Given the description of an element on the screen output the (x, y) to click on. 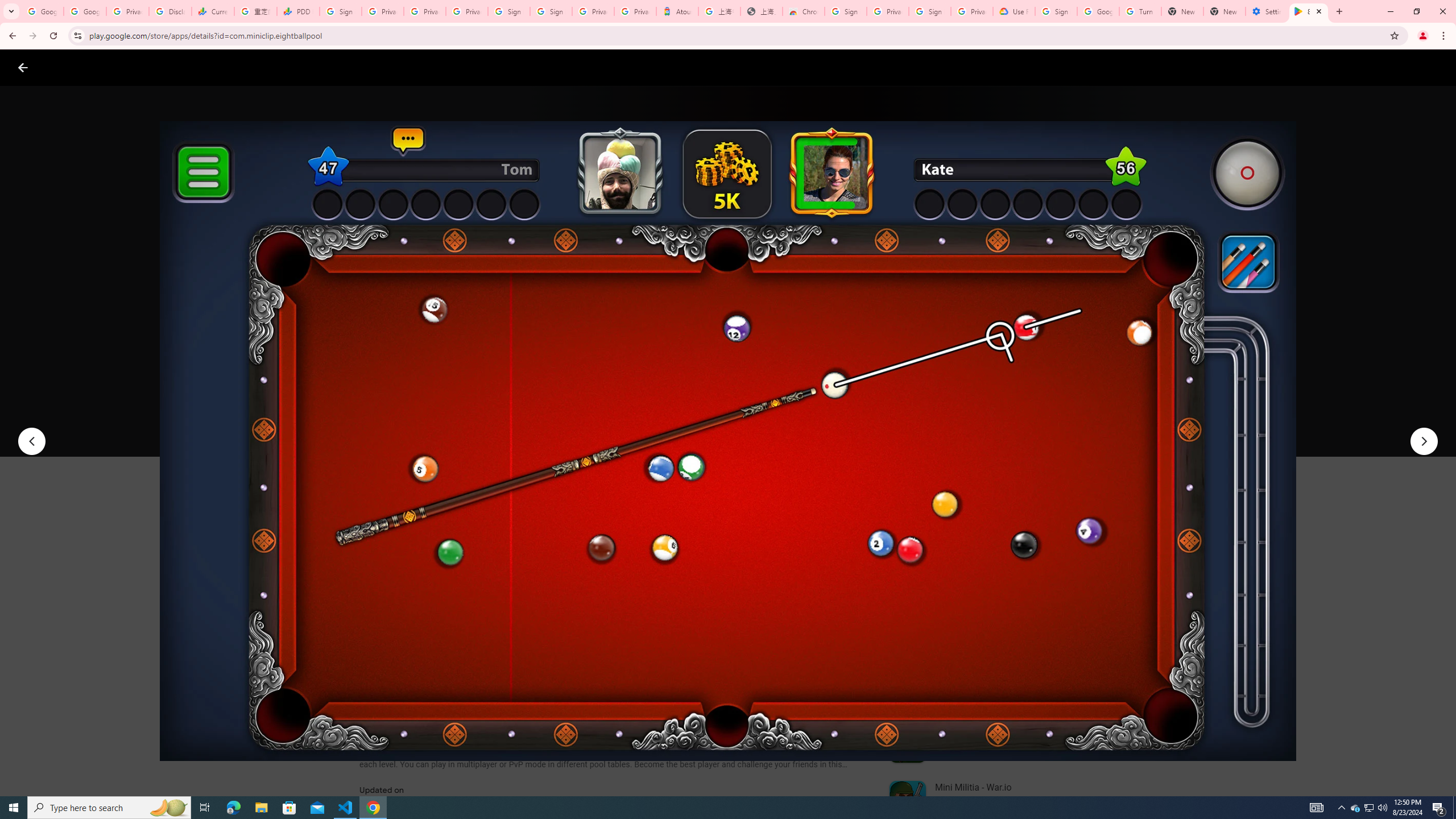
Expand (978, 497)
Settings - System (1266, 11)
PDD Holdings Inc - ADR (PDD) Price & News - Google Finance (298, 11)
Apps (182, 67)
Sign in - Google Accounts (1055, 11)
Scroll Next (848, 563)
Privacy Checkup (467, 11)
Currencies - Google Finance (212, 11)
Google Account Help (1097, 11)
